Given the description of an element on the screen output the (x, y) to click on. 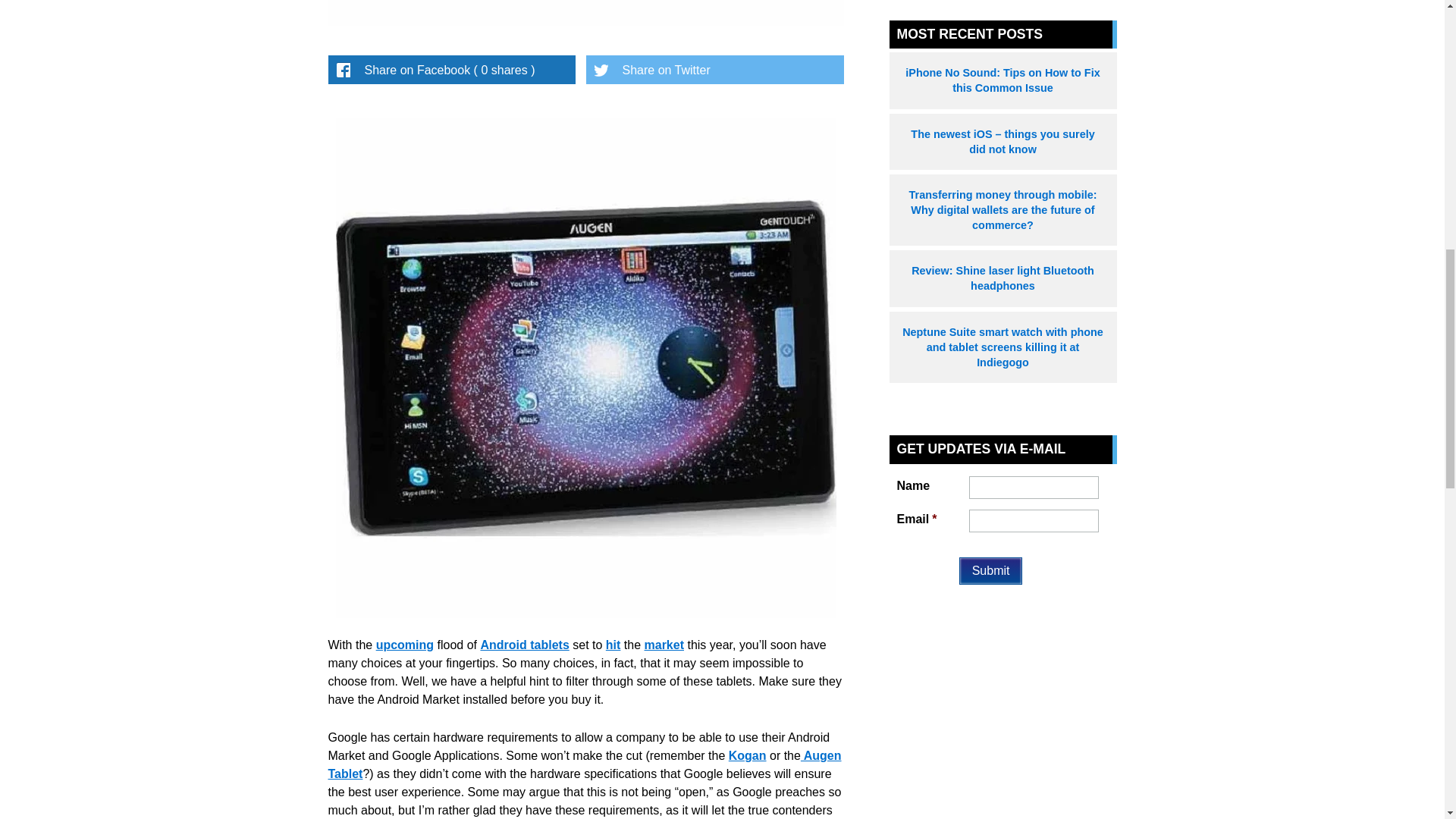
hit (613, 644)
upcoming (404, 644)
market (664, 644)
Share on Twitter (714, 69)
Kogan (748, 755)
Android tablets (524, 644)
Submit (991, 570)
Share on Twitter (714, 69)
Augen Tablet (584, 764)
